Given the description of an element on the screen output the (x, y) to click on. 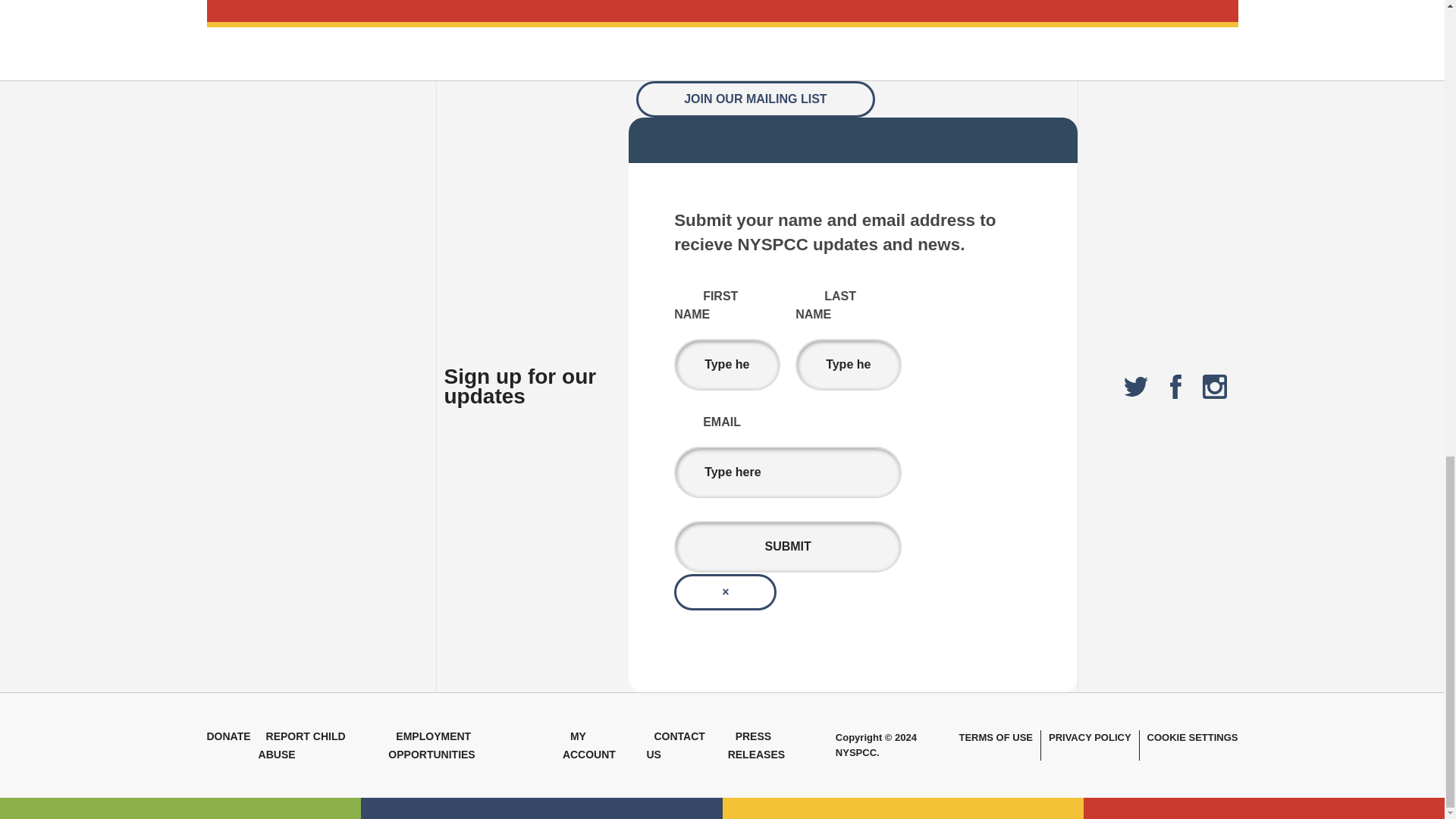
JOIN OUR MAILING LIST (755, 99)
submit (787, 546)
submit (787, 546)
